Given the description of an element on the screen output the (x, y) to click on. 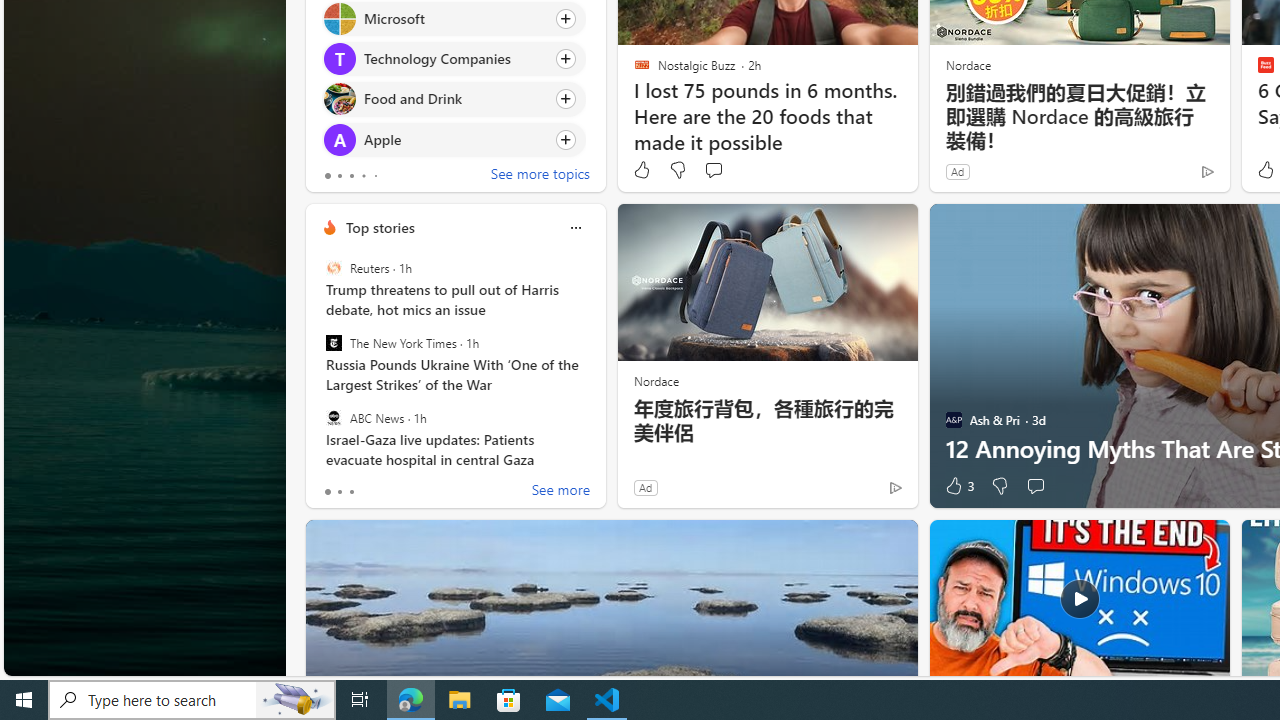
tab-0 (327, 491)
ABC News (333, 417)
Top stories (379, 227)
Click to follow topic Technology Companies (453, 59)
tab-4 (374, 175)
Ad Choice (895, 487)
Start the conversation (1035, 485)
tab-3 (363, 175)
3 Like (957, 485)
